Given the description of an element on the screen output the (x, y) to click on. 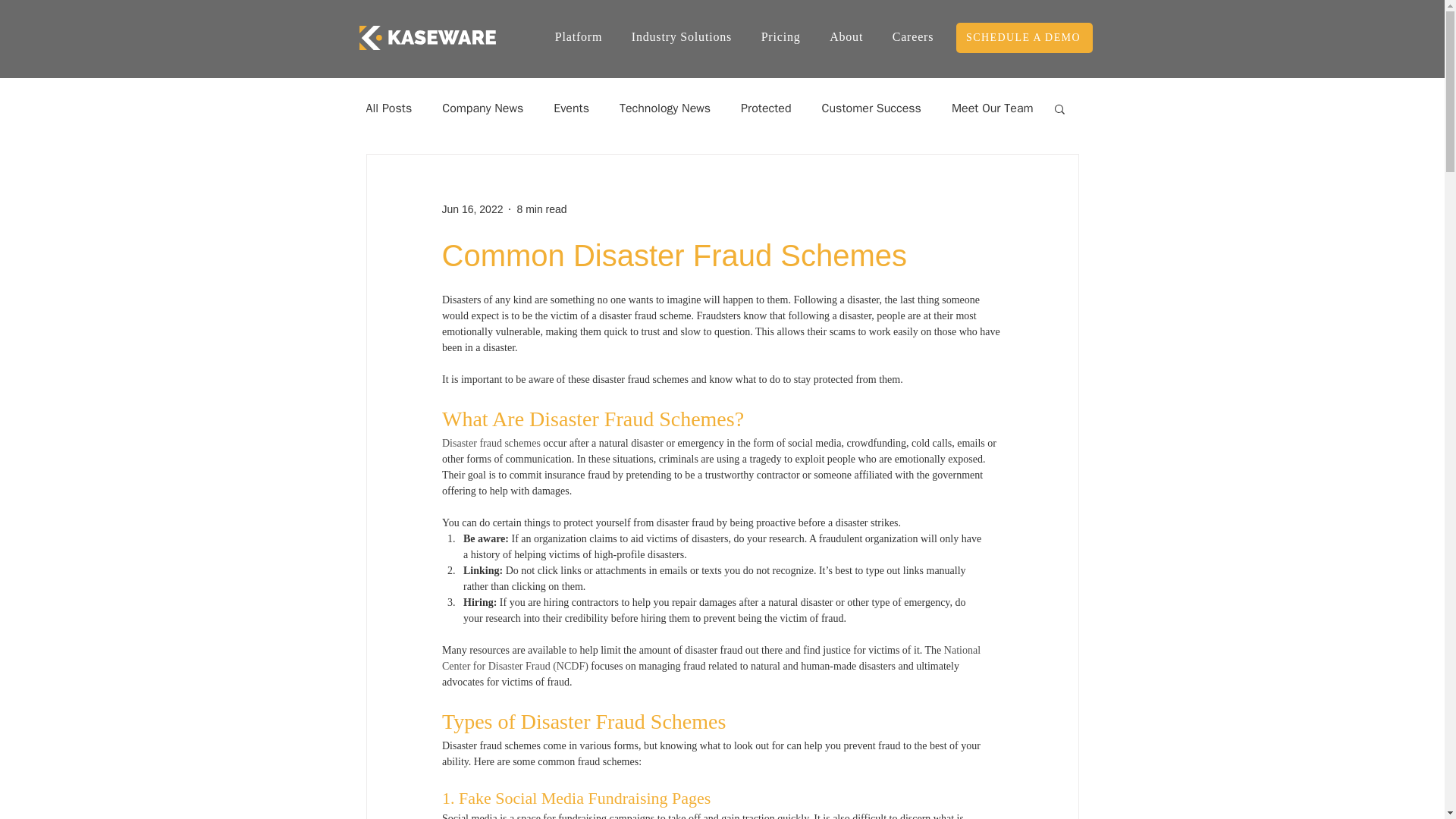
SCHEDULE A DEMO (1023, 37)
About (846, 36)
Events (571, 107)
Platform (577, 36)
Pricing (779, 36)
Jun 16, 2022 (471, 209)
Company News (482, 107)
8 min read (541, 209)
Careers (912, 36)
All Posts (388, 107)
